Given the description of an element on the screen output the (x, y) to click on. 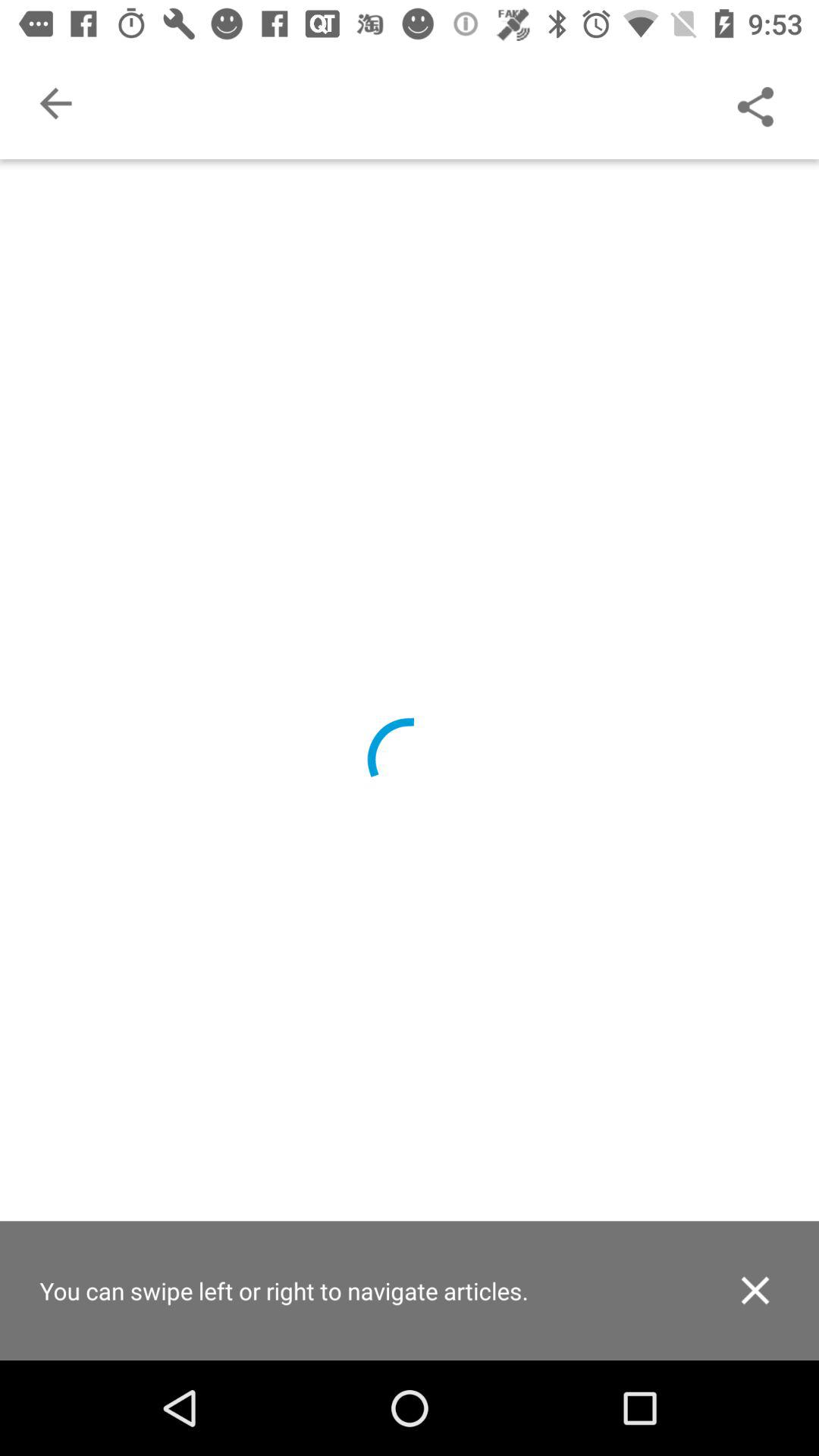
turn on the icon at the top left corner (55, 103)
